Given the description of an element on the screen output the (x, y) to click on. 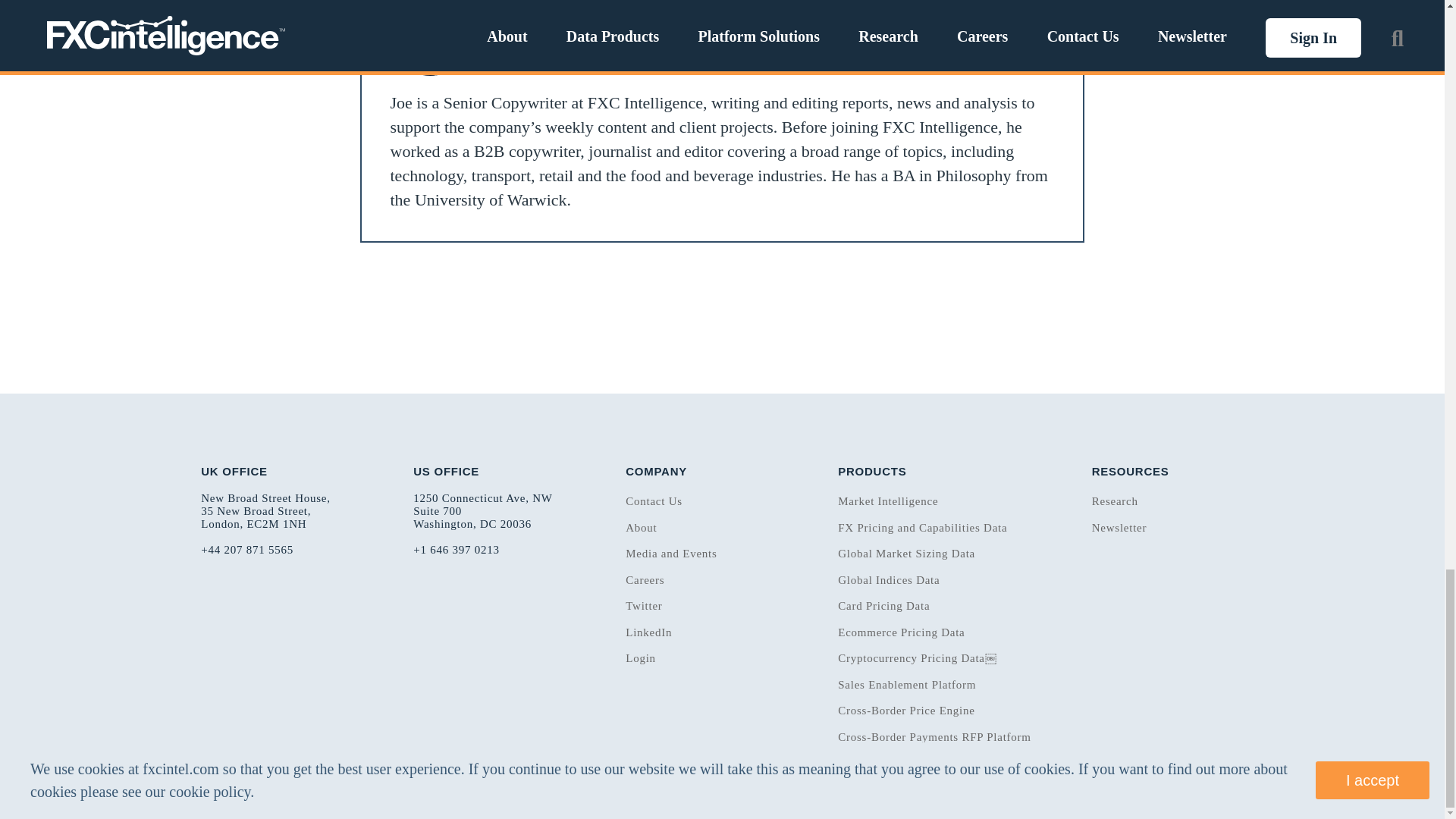
LinkedIn (1019, 43)
Joe Baker (528, 35)
Contact Us (654, 500)
LinkedIn (963, 33)
